Given the description of an element on the screen output the (x, y) to click on. 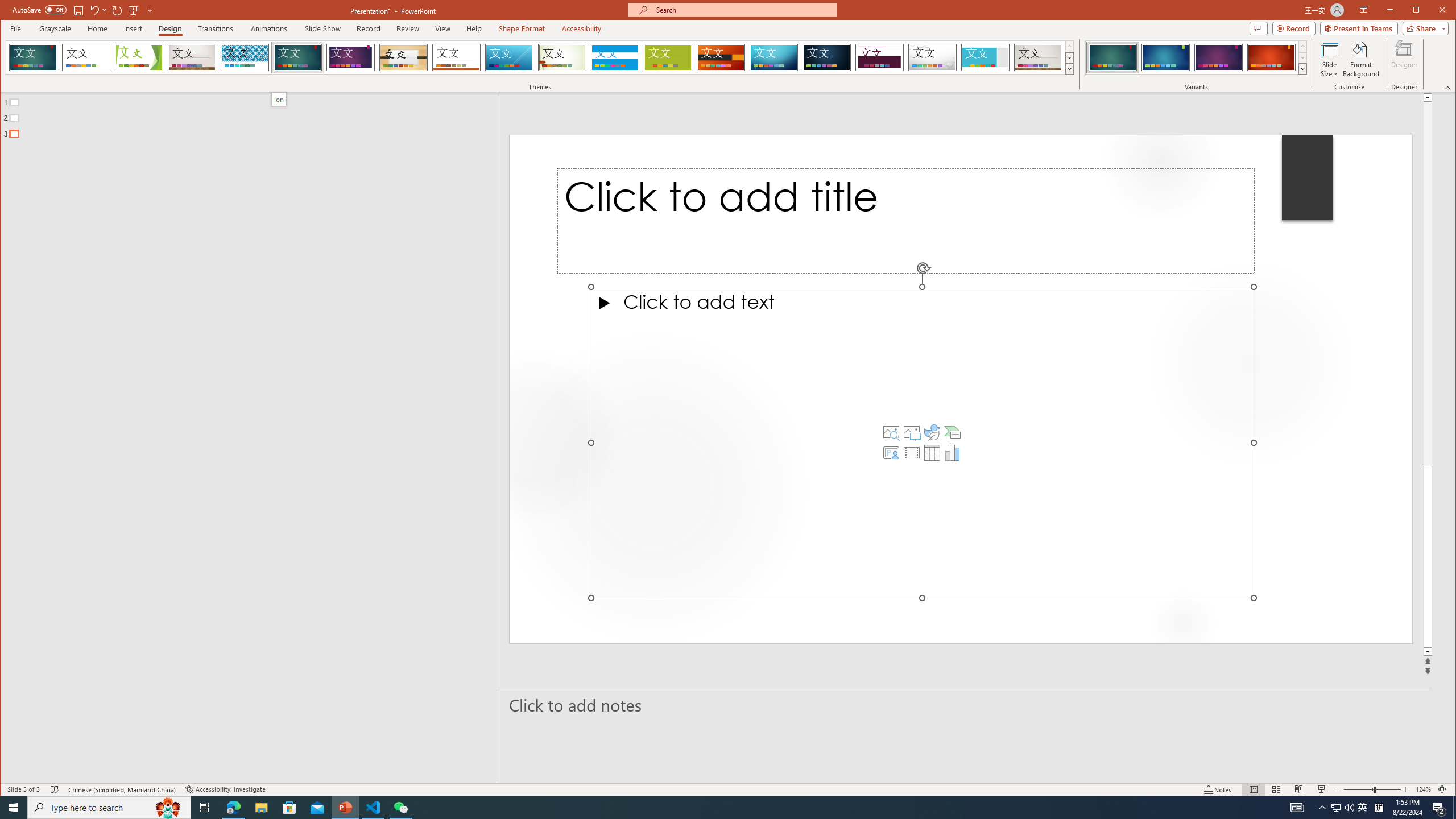
Ion Variant 2 (1165, 57)
Insert Chart (952, 452)
Office Theme (85, 57)
Gallery (1037, 57)
Pictures (911, 432)
